Given the description of an element on the screen output the (x, y) to click on. 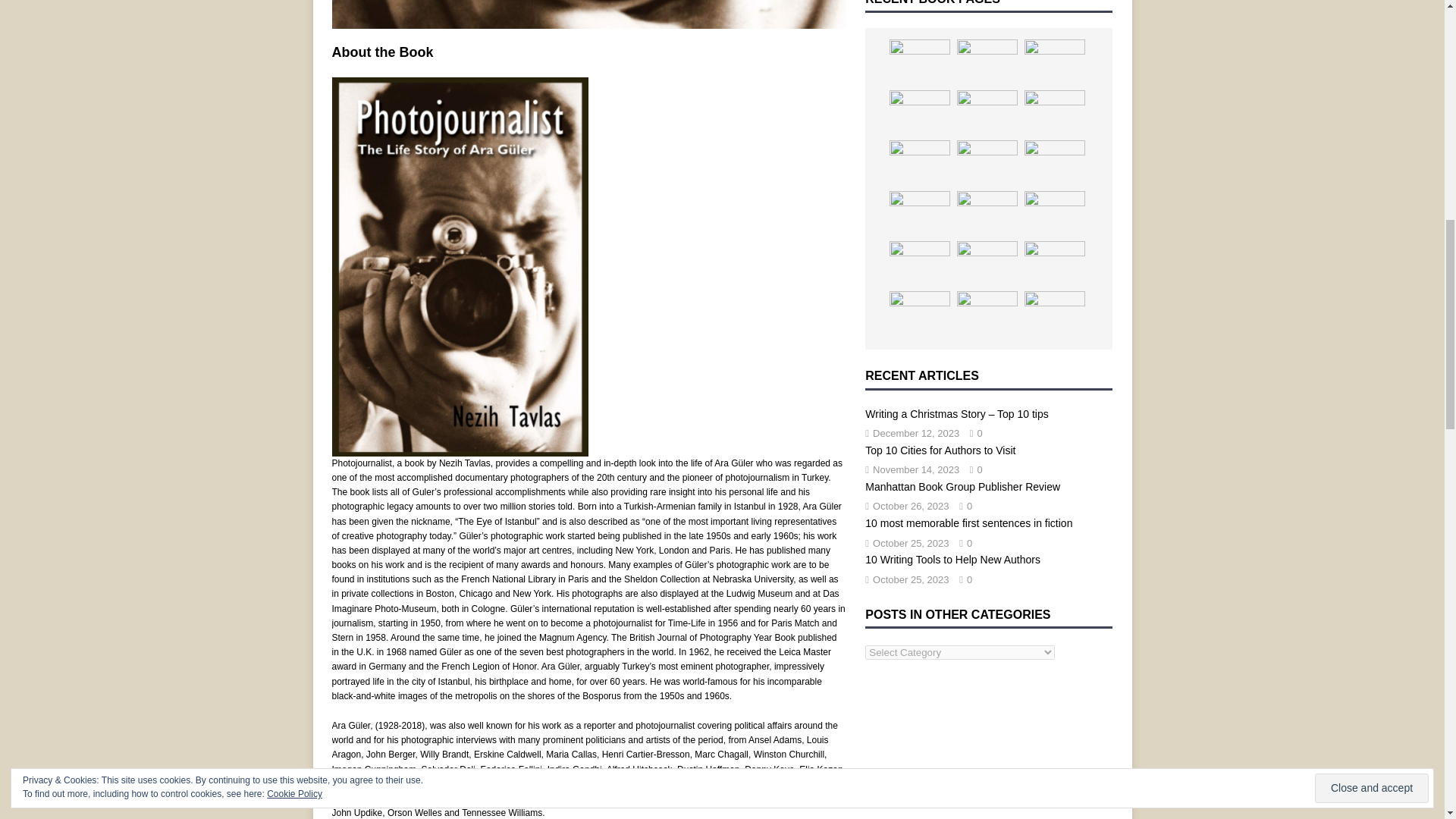
Why you must start Digital Detox Now! (919, 62)
phjo (588, 14)
